Given the description of an element on the screen output the (x, y) to click on. 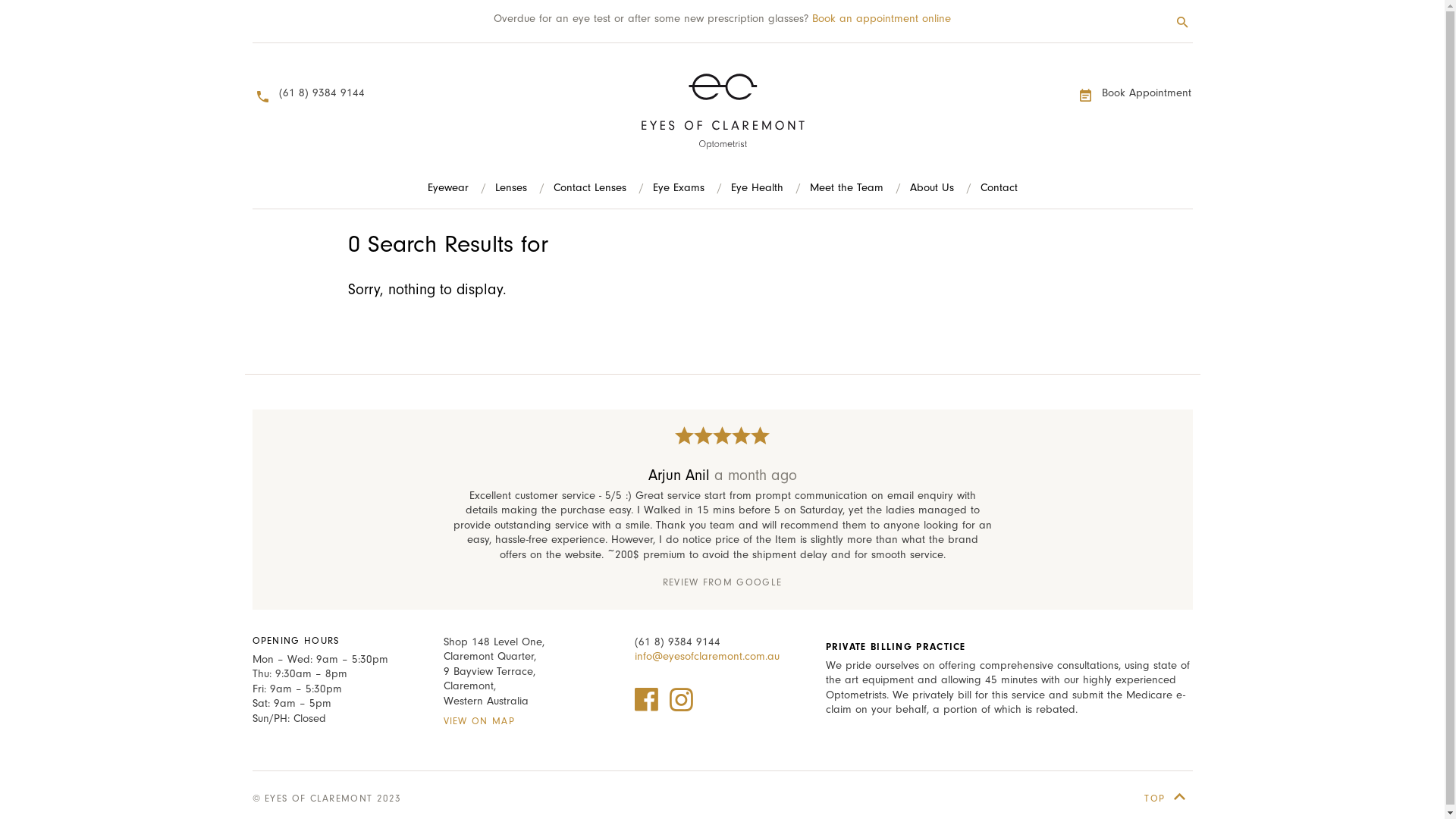
info@eyesofclaremont.com.au Element type: text (705, 655)
VIEW ON MAP Element type: text (478, 720)
Book Appointment Element type: text (1135, 93)
(61 8) 9384 9144 Element type: text (310, 93)
Lenses Element type: text (510, 187)
(61 8) 9384 9144 Element type: text (676, 641)
Eye Health Element type: text (757, 187)
Contact Element type: text (997, 187)
Meet the Team Element type: text (846, 187)
About Us Element type: text (931, 187)
Eyewear Element type: text (447, 187)
TOP Element type: text (1168, 797)
Book an appointment online Element type: text (881, 18)
REVIEW FROM GOOGLE Element type: text (721, 581)
Eye Exams Element type: text (677, 187)
Contact Lenses Element type: text (589, 187)
